Given the description of an element on the screen output the (x, y) to click on. 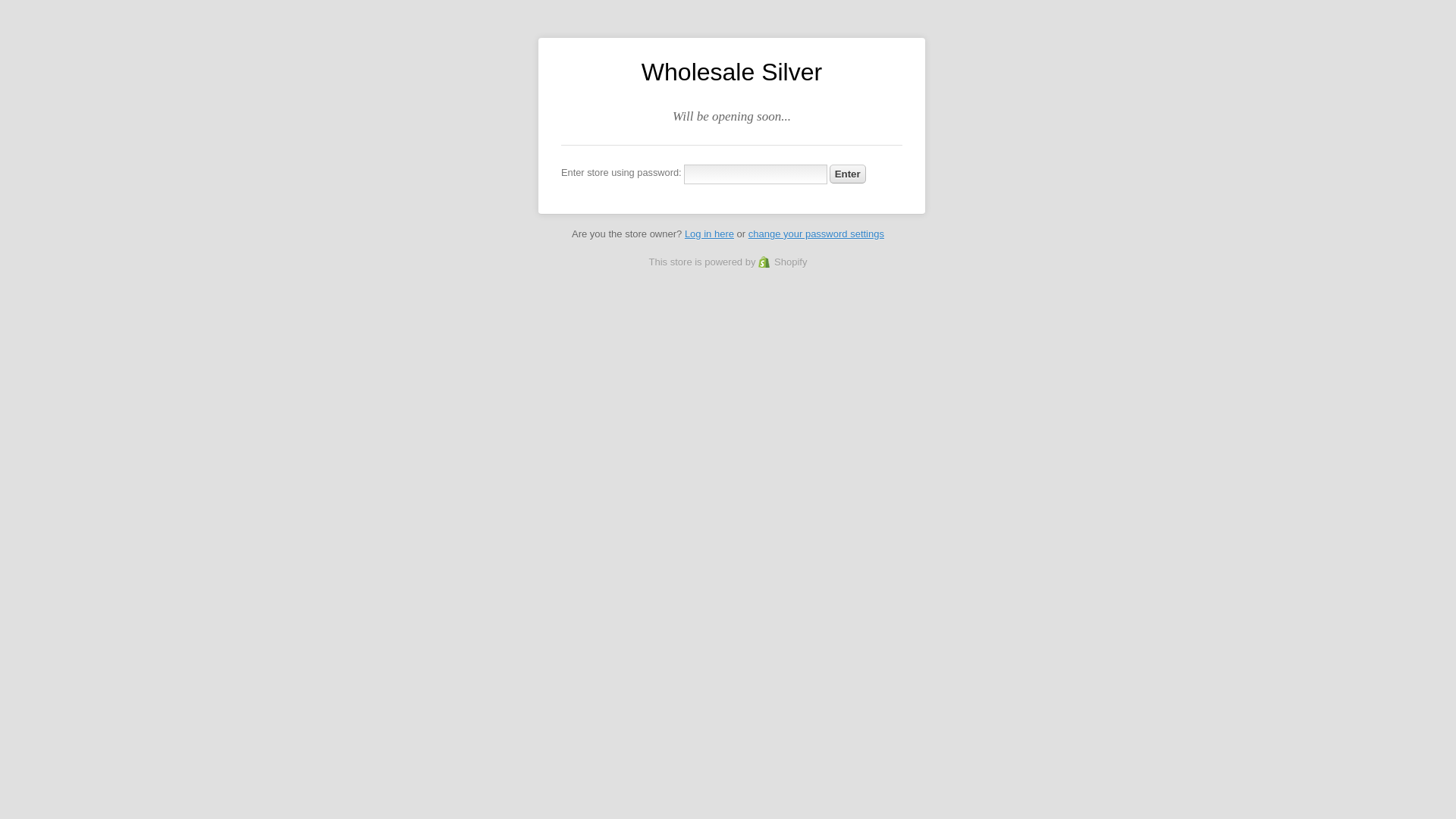
Enter (847, 173)
Enter (847, 173)
